Given the description of an element on the screen output the (x, y) to click on. 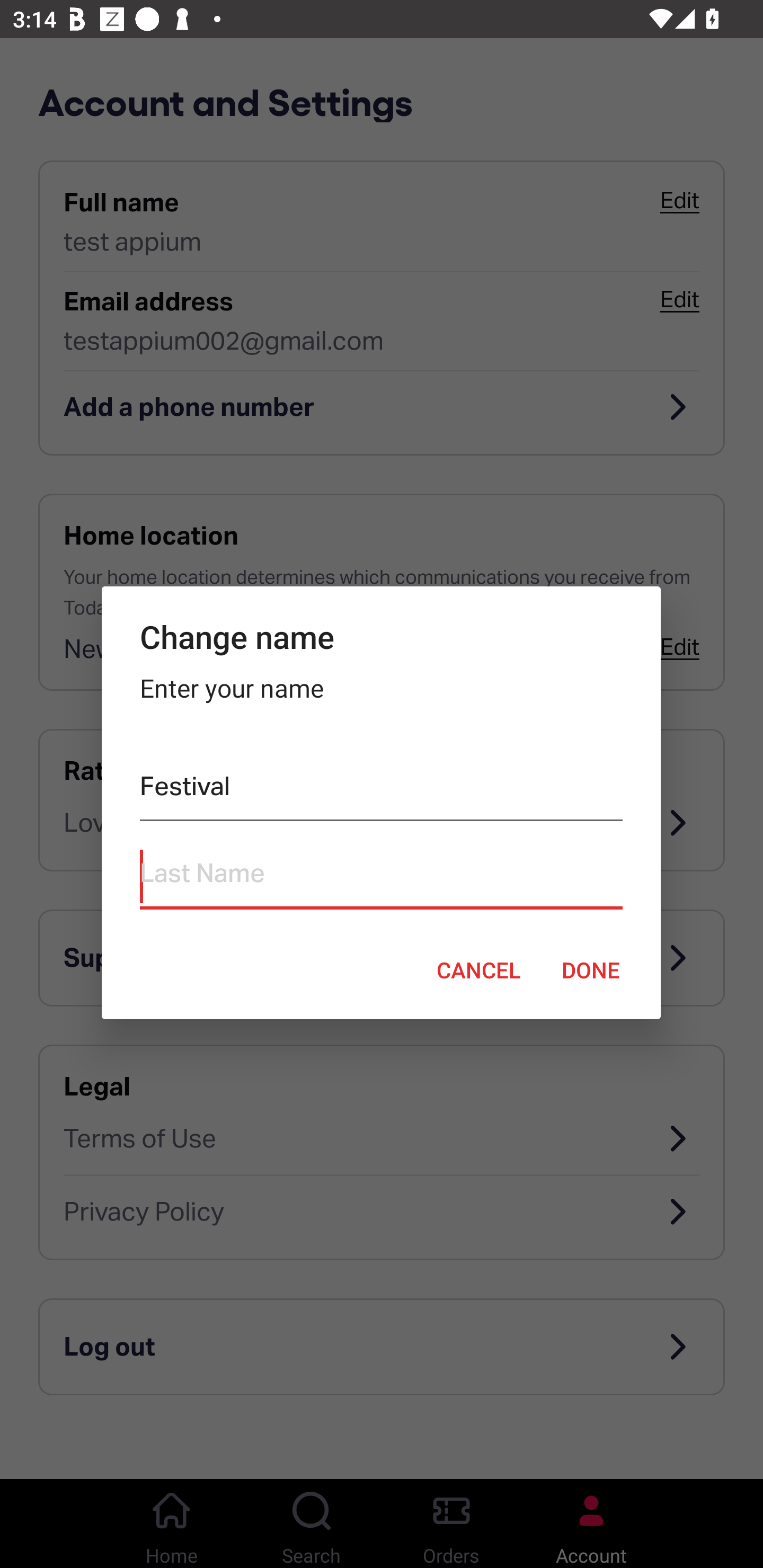
Festival (380, 790)
Last Name (380, 877)
CANCEL (478, 969)
DONE (590, 969)
